Given the description of an element on the screen output the (x, y) to click on. 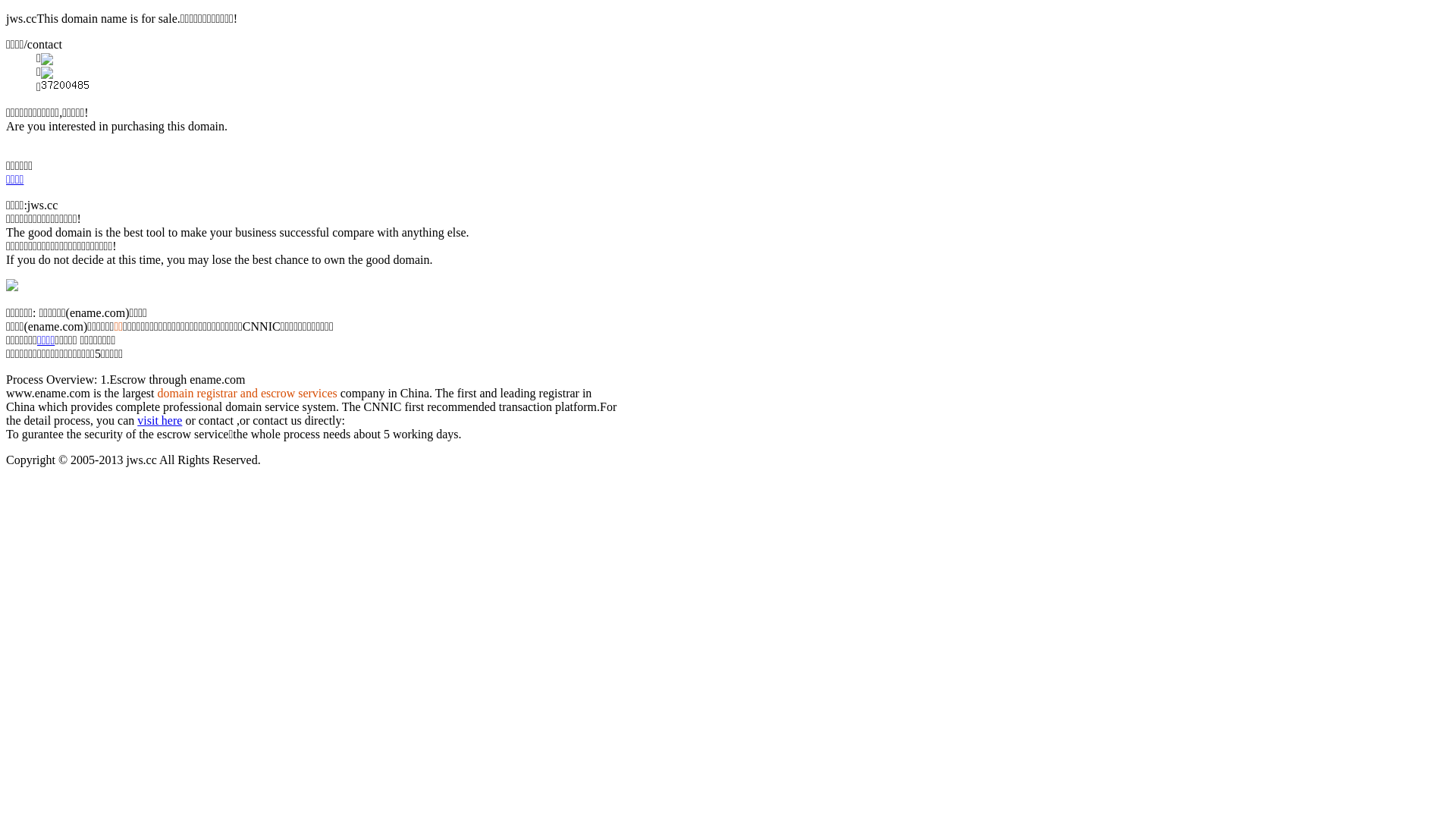
visit here Element type: text (159, 420)
